Given the description of an element on the screen output the (x, y) to click on. 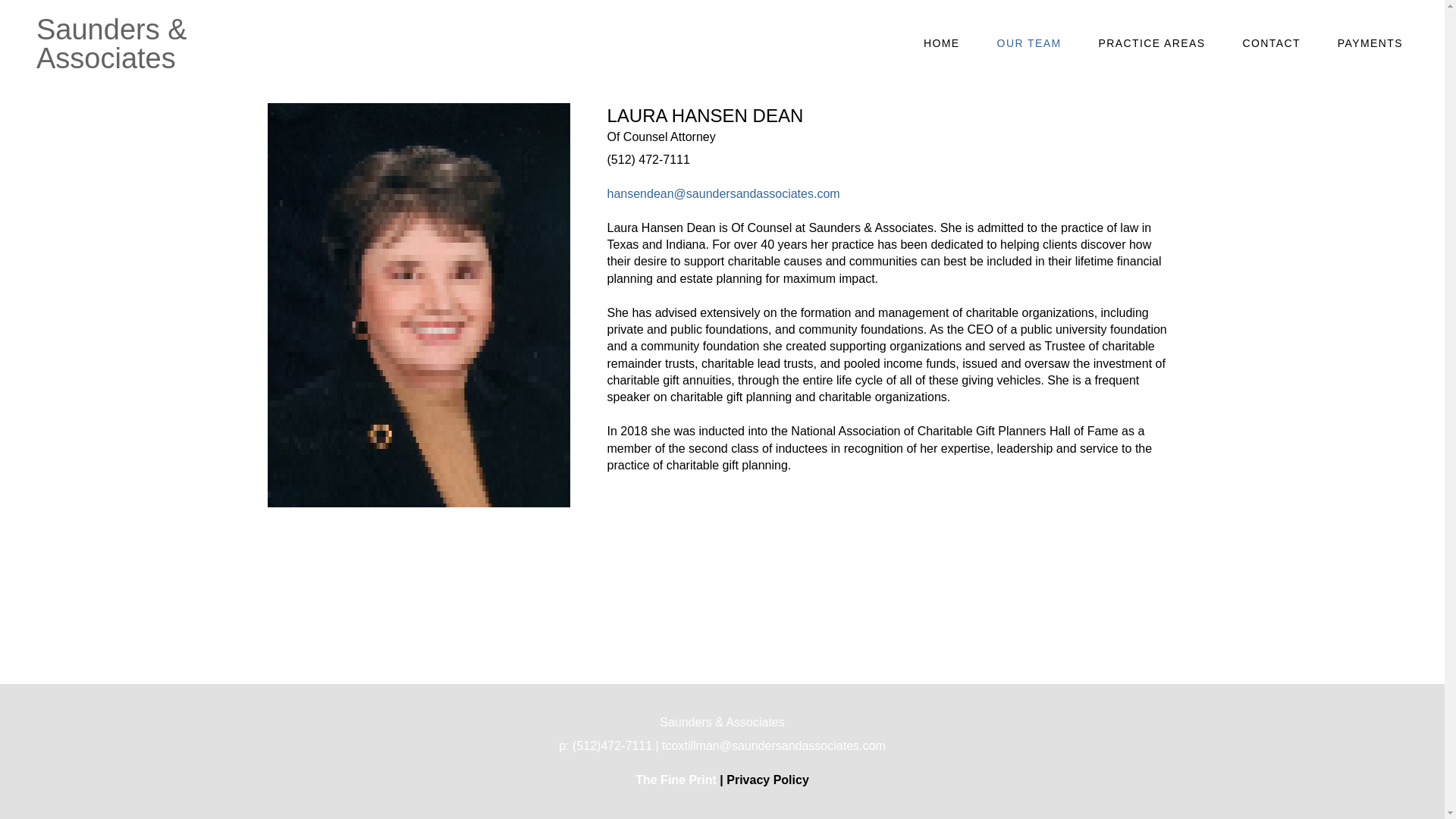
The Fine Print (675, 779)
PRACTICE AREAS (1151, 43)
OUR TEAM (1029, 43)
HOME (941, 43)
CONTACT (1270, 43)
PAYMENTS (1369, 43)
